Given the description of an element on the screen output the (x, y) to click on. 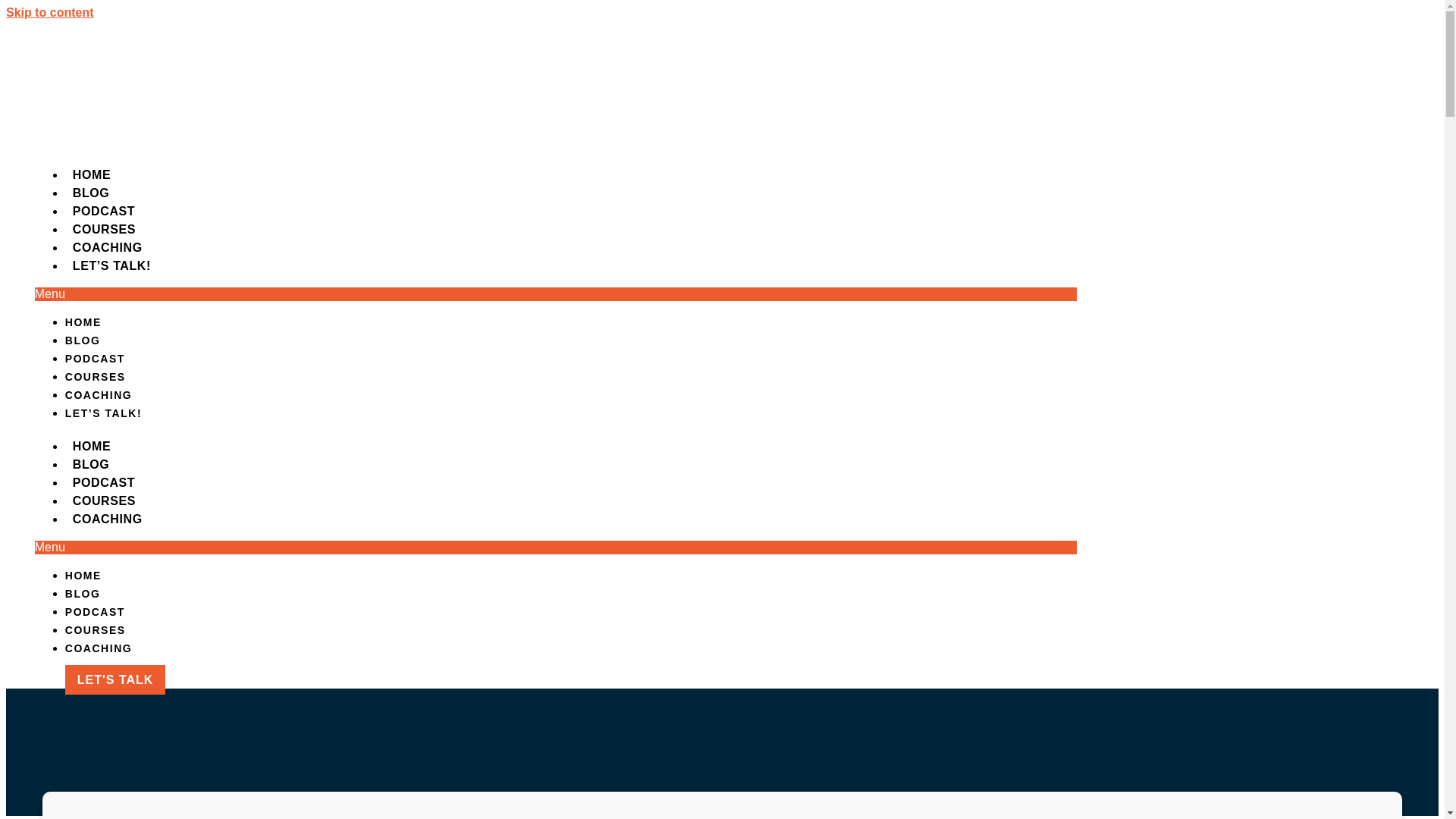
LET'S TALK (115, 679)
COURSES (95, 630)
BLOG (91, 192)
Skip to content (49, 11)
BLOG (91, 464)
COACHING (107, 247)
COURSES (103, 229)
COURSES (103, 500)
HOME (83, 575)
COACHING (98, 395)
